Given the description of an element on the screen output the (x, y) to click on. 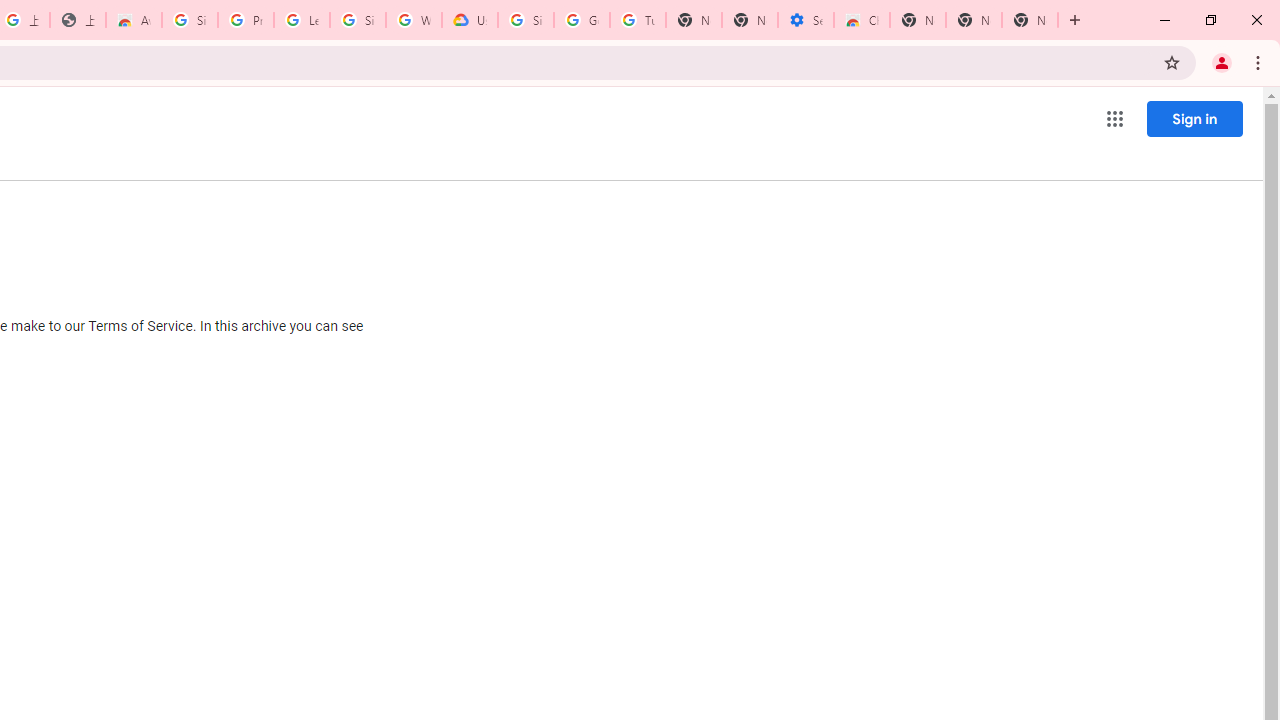
Sign in - Google Accounts (358, 20)
Sign in - Google Accounts (525, 20)
Settings - Accessibility (806, 20)
